Given the description of an element on the screen output the (x, y) to click on. 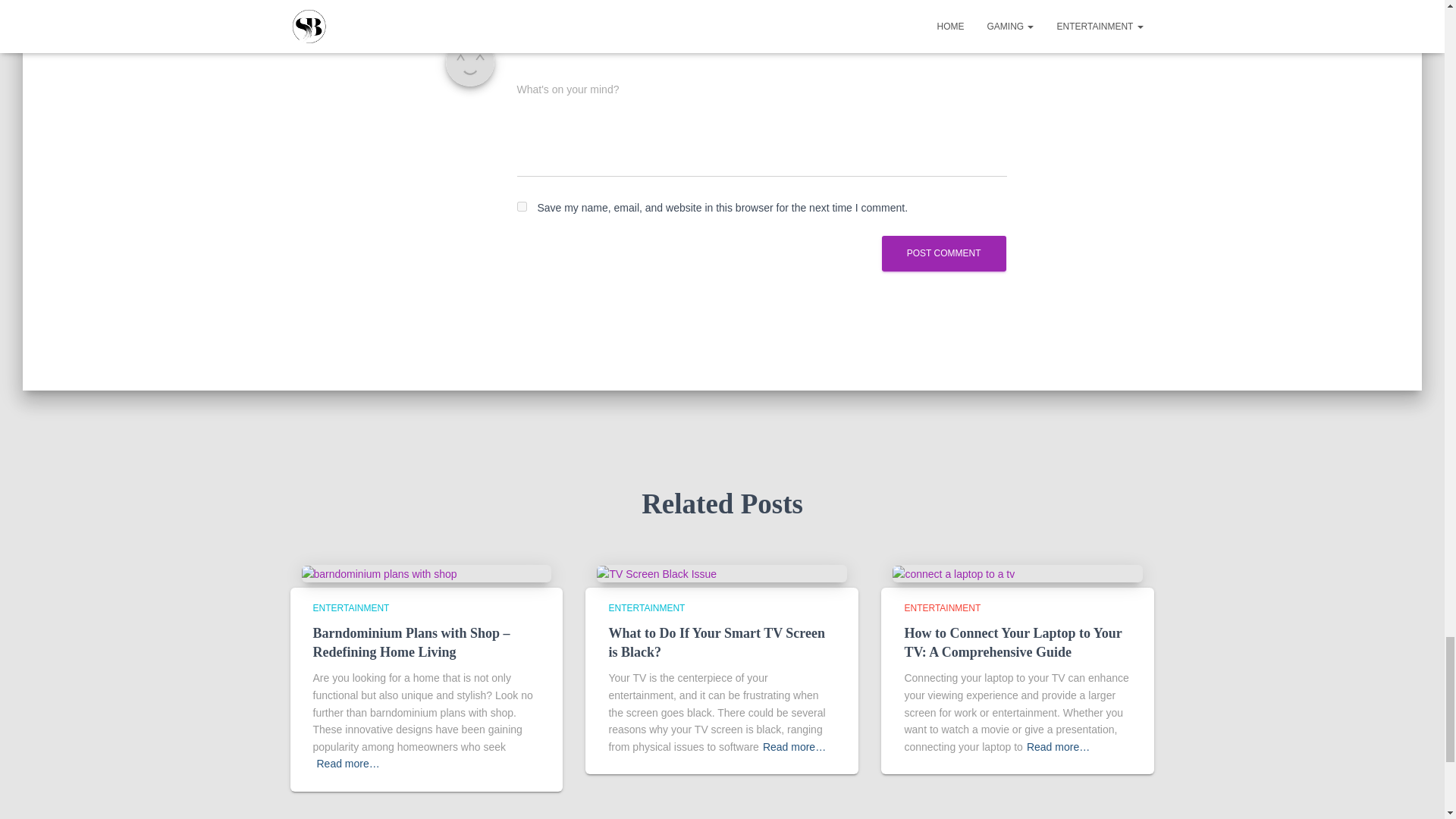
yes (521, 206)
Post Comment (944, 253)
ENTERTAINMENT (941, 607)
ENTERTAINMENT (646, 607)
Post Comment (944, 253)
How to Connect Your Laptop to Your TV: A Comprehensive Guide (1012, 642)
What to Do If Your Smart TV Screen is Black? (716, 642)
ENTERTAINMENT (350, 607)
